Given the description of an element on the screen output the (x, y) to click on. 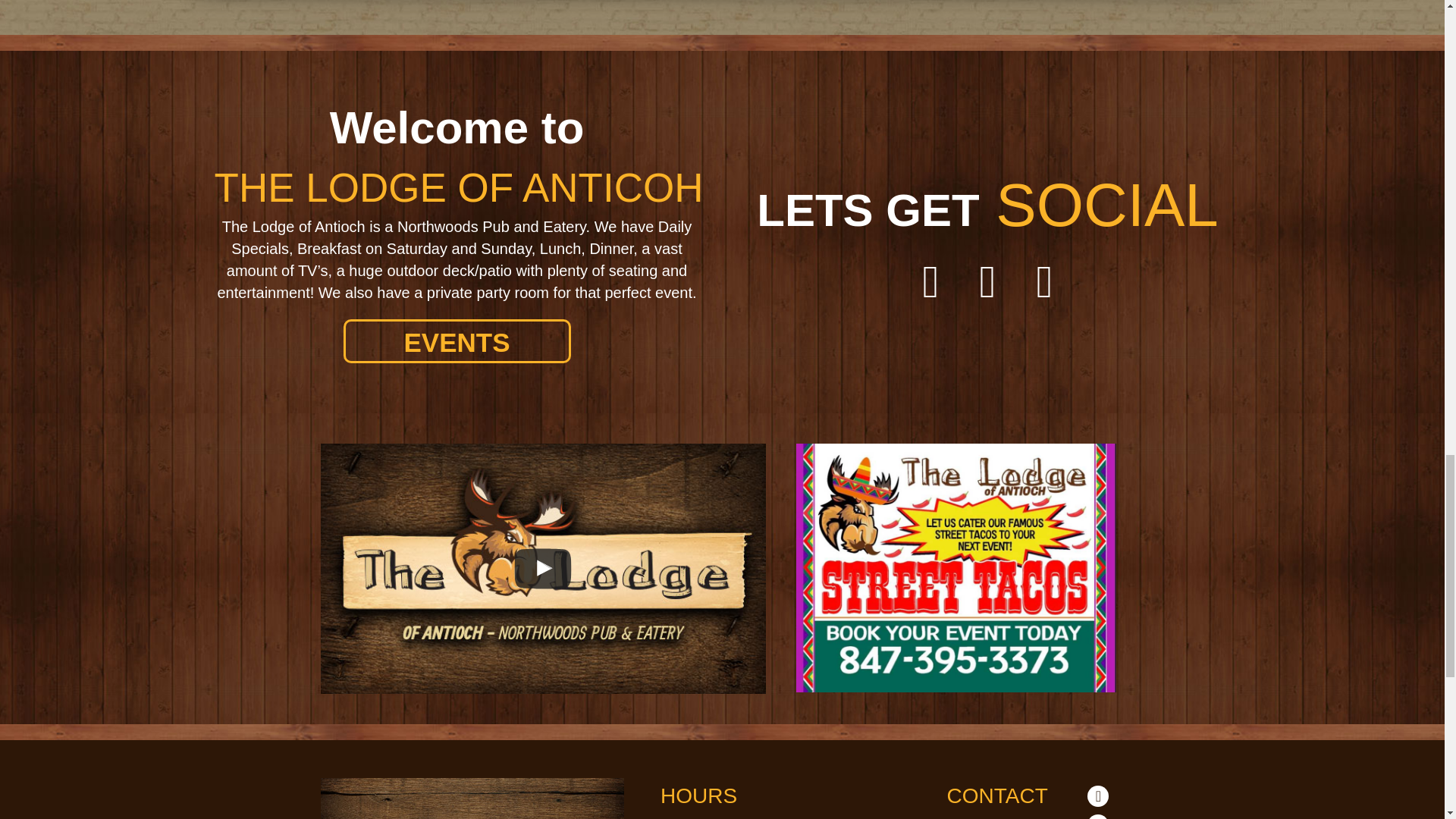
CONTACT (997, 795)
HOURS (698, 795)
847-395-3373 (994, 817)
Street-Taco-Catering (956, 567)
EVENTS (456, 341)
the-lodge-logo-header (471, 798)
